Given the description of an element on the screen output the (x, y) to click on. 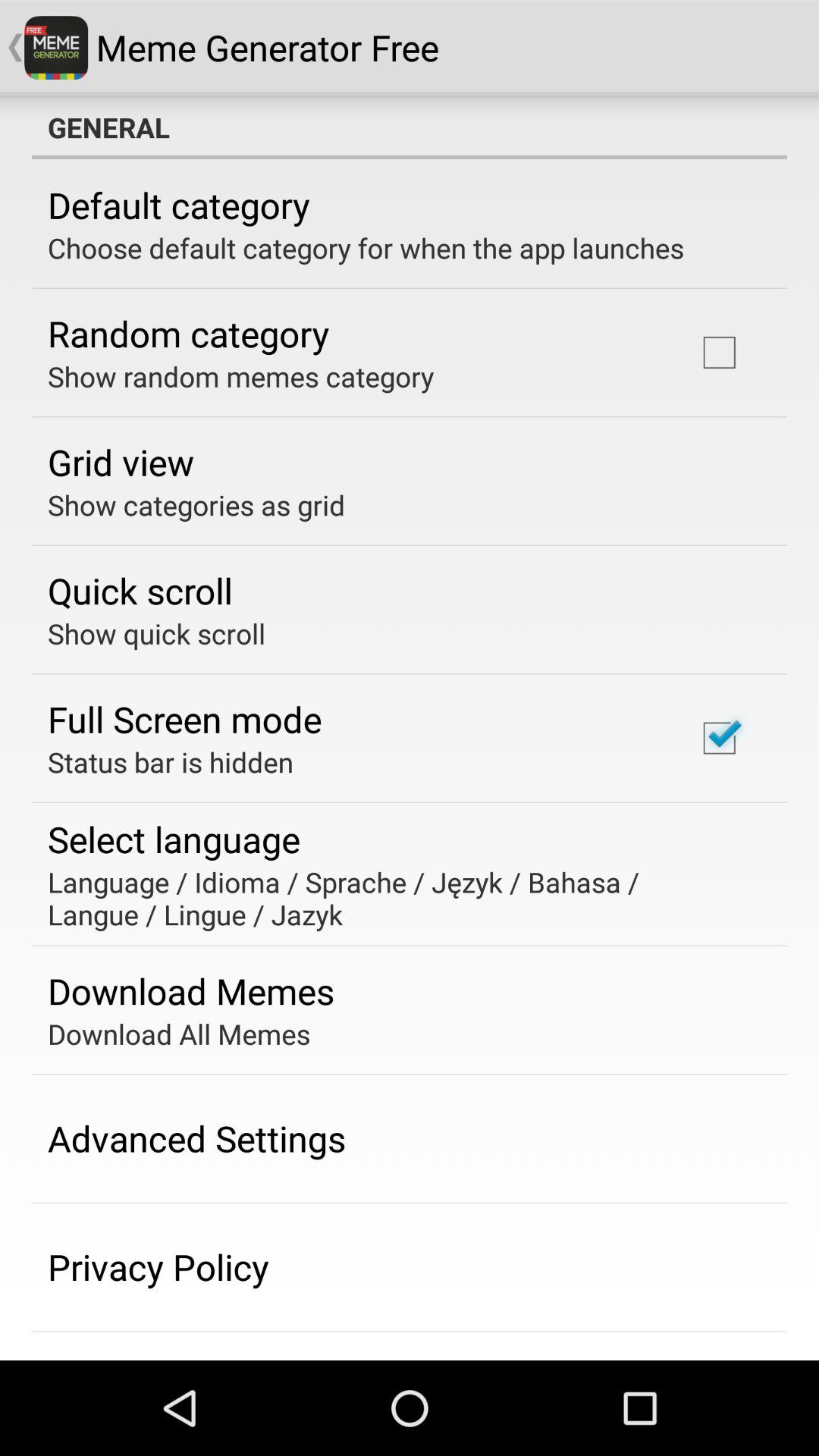
press the icon above download memes app (399, 898)
